Given the description of an element on the screen output the (x, y) to click on. 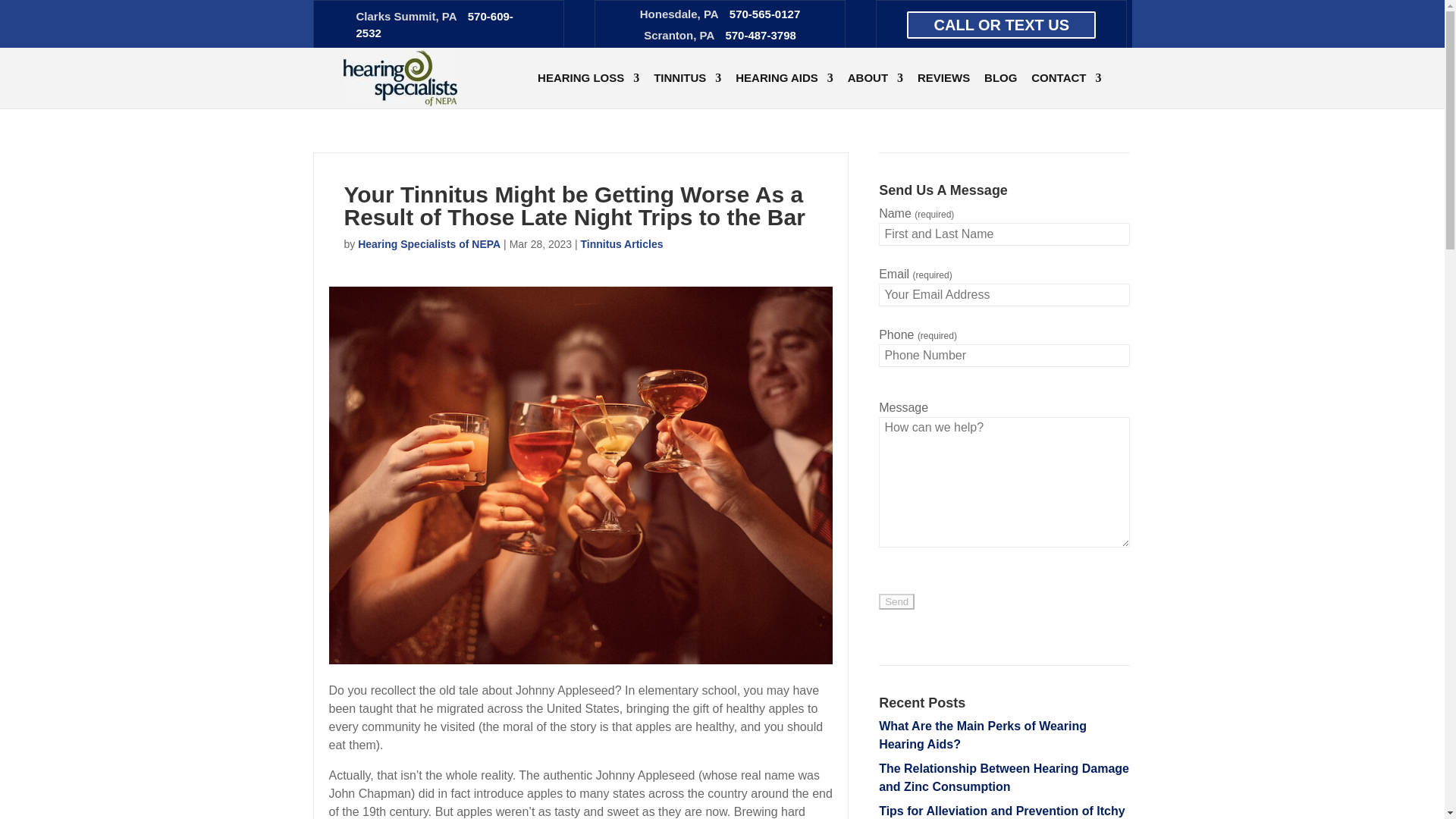
Scranton, PA (678, 36)
Send (896, 601)
Clarks Summit, PA (406, 16)
HEARING AIDS (783, 90)
570-609-2532 (434, 25)
Hearing Specialists of NEPA (429, 245)
Posts by Hearing Specialists of NEPA (429, 245)
BLOG (1000, 90)
TINNITUS (686, 90)
Tinnitus Articles (621, 245)
